Given the description of an element on the screen output the (x, y) to click on. 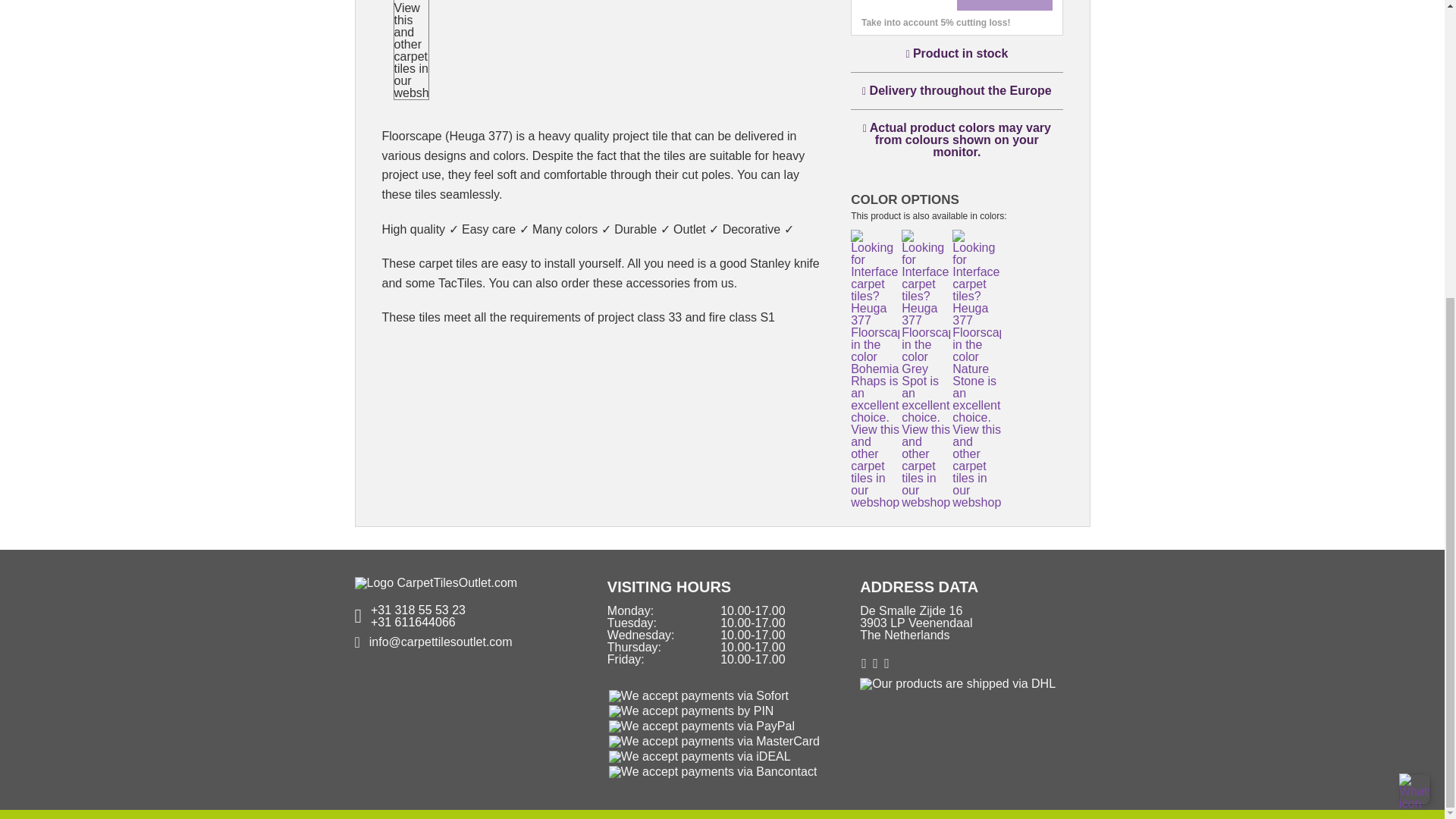
We accept payments via PayPal (701, 726)
Our products are shipped via DHL (957, 693)
We accept payments via iDEAL (699, 756)
We accept payments via Bancontact (712, 771)
We accept payments by PIN (691, 711)
We accept payments via Sofort (698, 695)
We accept payments via MasterCard (713, 741)
